Given the description of an element on the screen output the (x, y) to click on. 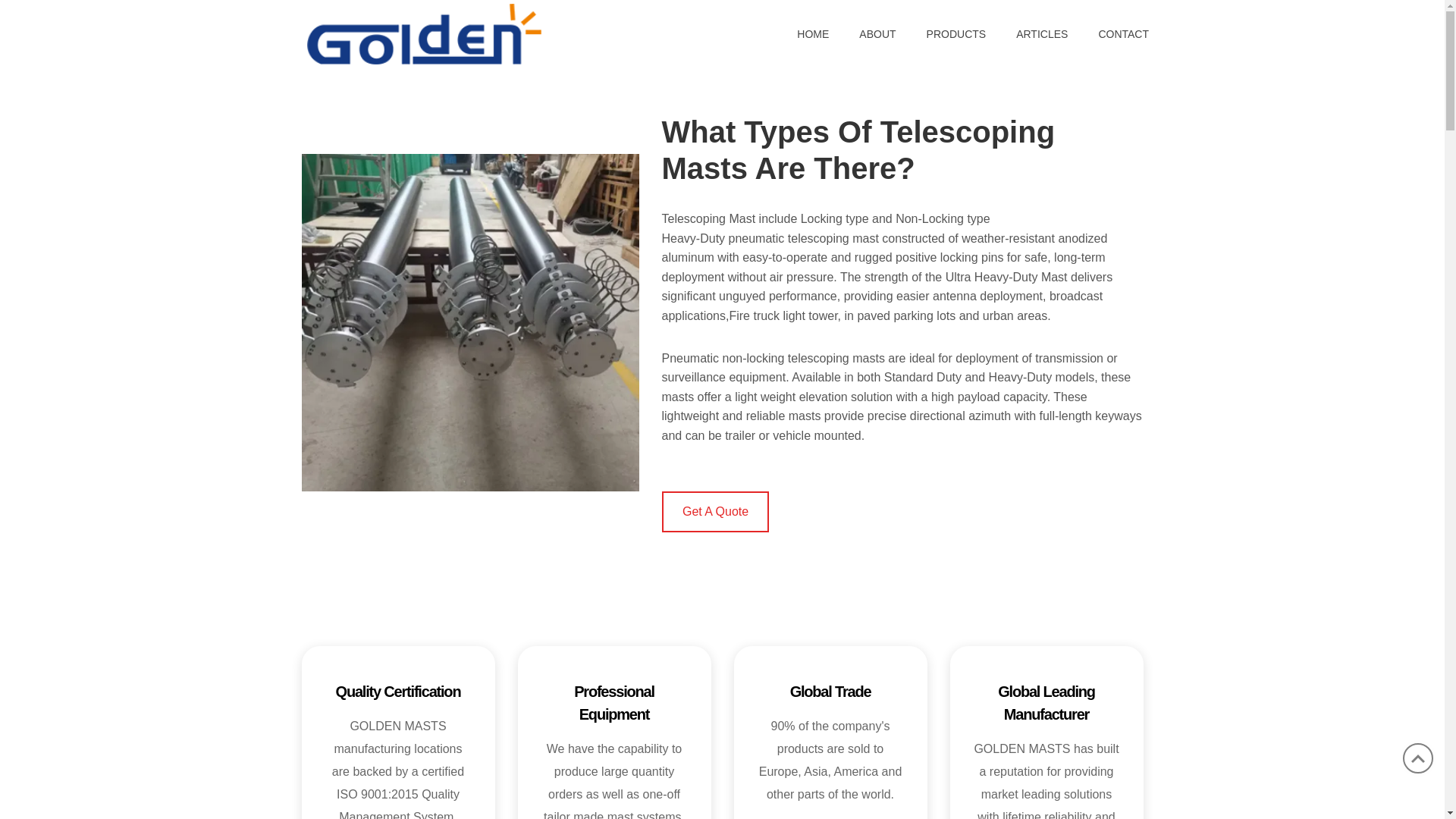
Get A Quote (714, 511)
Get A Quote (714, 511)
Telescoping Mast (708, 218)
PRODUCTS (956, 33)
Back To Home (424, 32)
CONTACT (1115, 33)
ARTICLES (1042, 33)
HOME (812, 33)
ABOUT (877, 33)
